Given the description of an element on the screen output the (x, y) to click on. 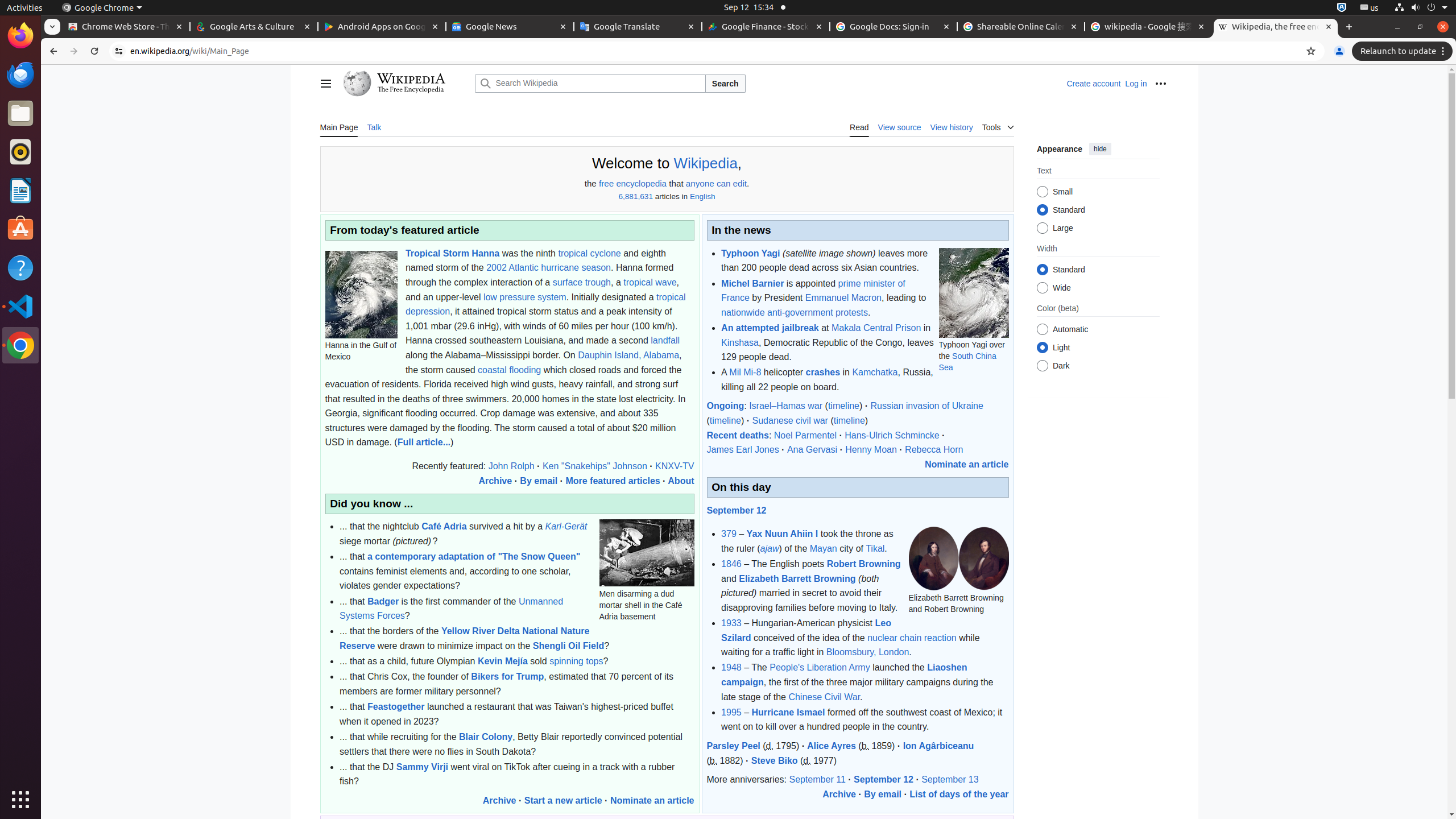
Parsley Peel Element type: link (733, 745)
Noel Parmentel Element type: link (805, 434)
coastal flooding Element type: link (509, 369)
Liaoshen campaign Element type: link (844, 674)
low pressure system Element type: link (524, 296)
